Given the description of an element on the screen output the (x, y) to click on. 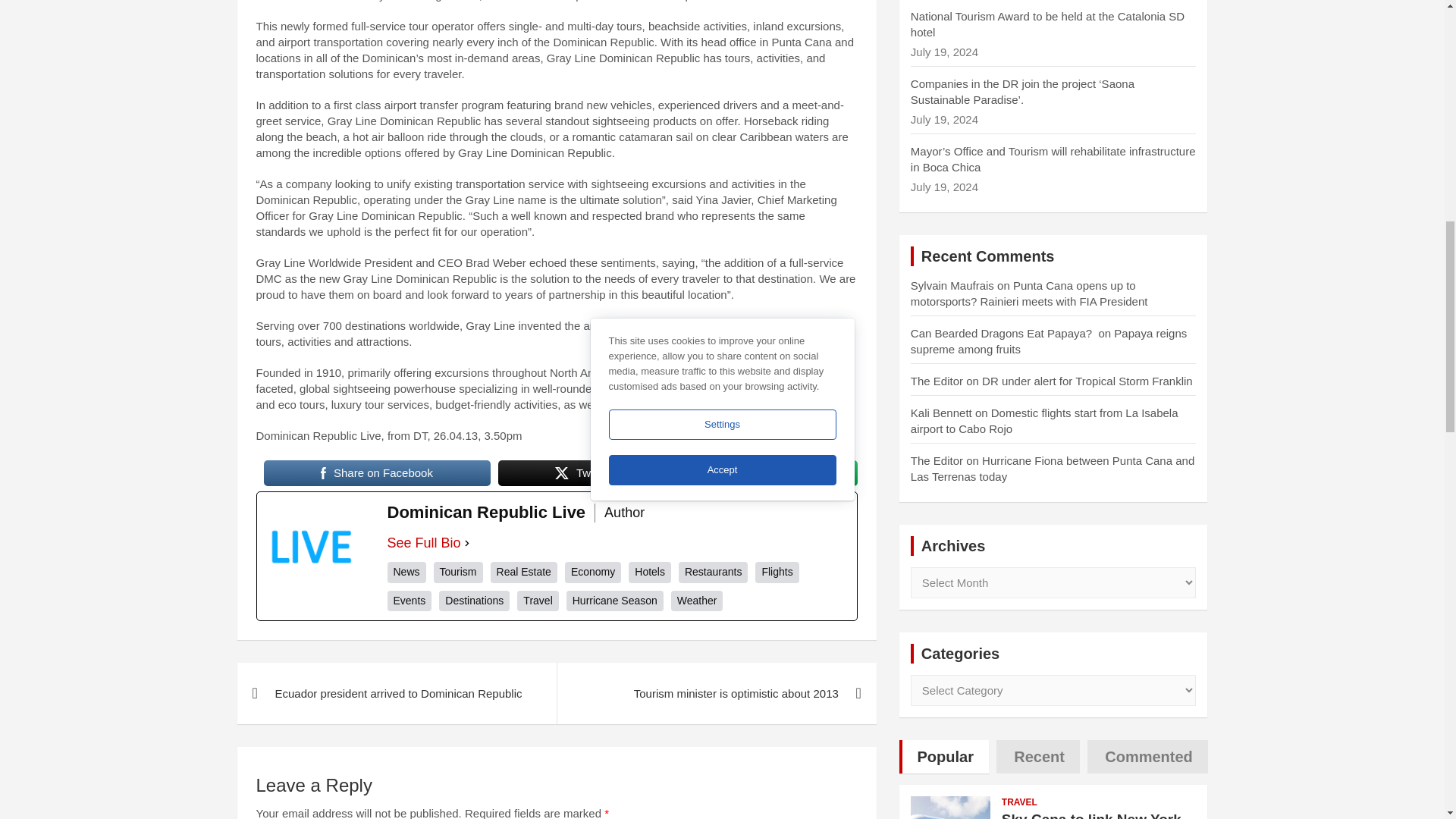
Tourism minister is optimistic about 2013 (716, 692)
Share on Facebook (376, 472)
Ecuador president arrived to Dominican Republic (395, 692)
Tweet (580, 472)
See Full Bio (423, 542)
Follow us (764, 472)
